Given the description of an element on the screen output the (x, y) to click on. 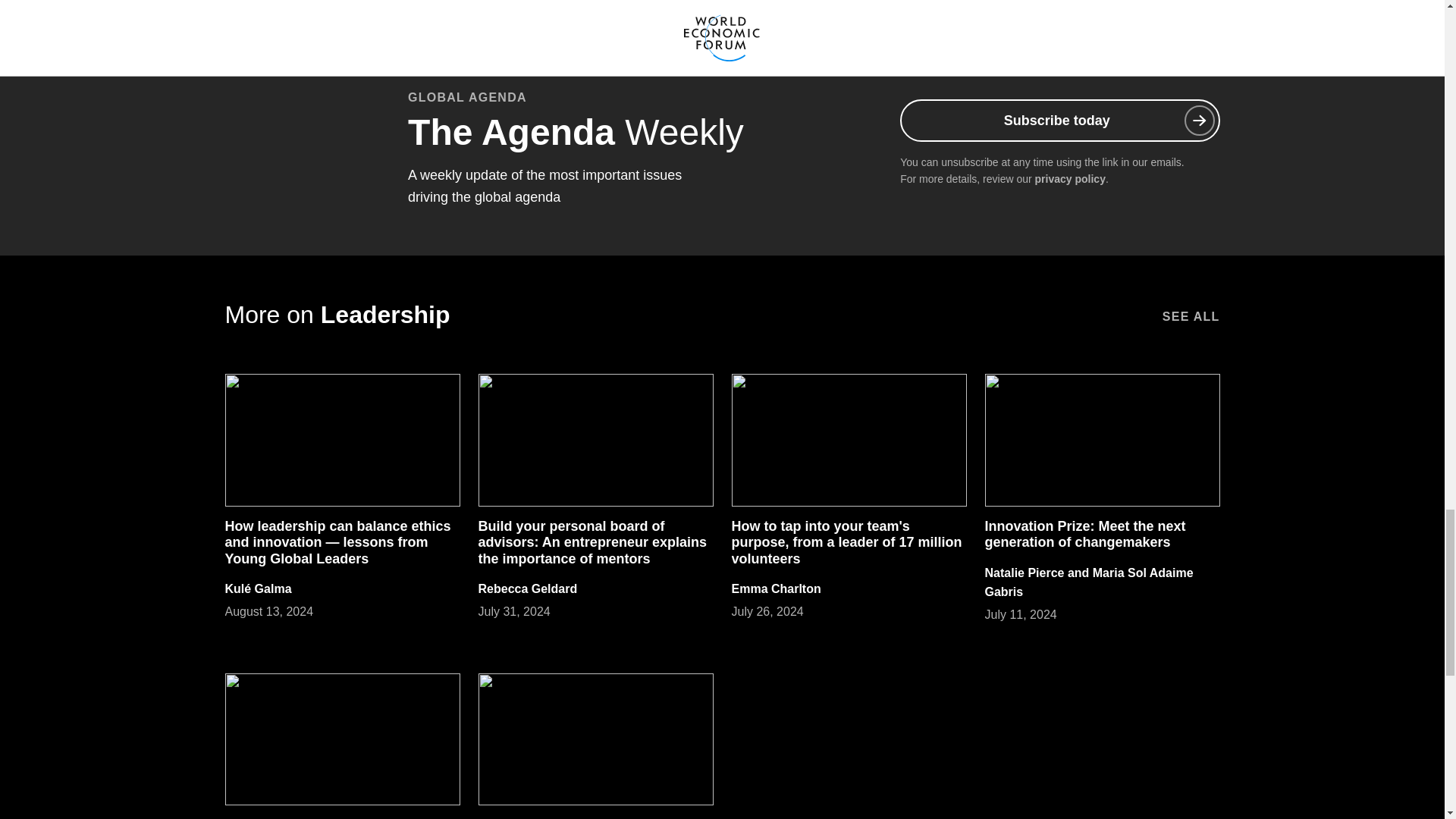
SEE ALL (1190, 314)
Innovation Prize: Meet the next generation of changemakers (1084, 534)
privacy policy (1070, 178)
Subscribe today (1059, 120)
